Given the description of an element on the screen output the (x, y) to click on. 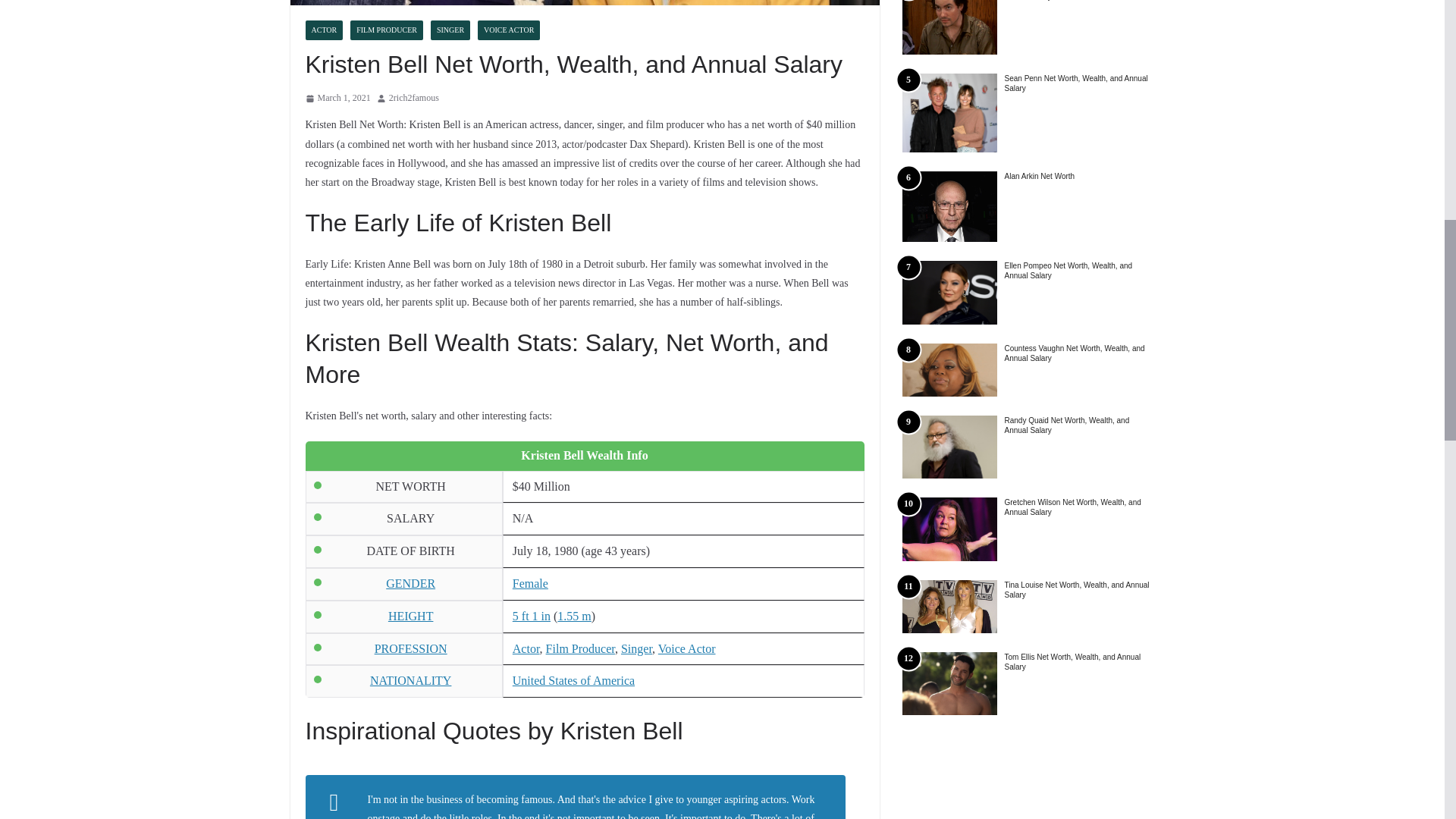
12:00 am (336, 98)
VOICE ACTOR (508, 30)
2rich2famous (413, 98)
NATIONALITY (410, 680)
ACTOR (323, 30)
1.55 m (574, 615)
SINGER (450, 30)
PROFESSION (410, 648)
FILM PRODUCER (386, 30)
5 ft 1 in (531, 615)
March 1, 2021 (336, 98)
2rich2famous (413, 98)
Female (530, 583)
Film Producer (580, 648)
HEIGHT (410, 615)
